Given the description of an element on the screen output the (x, y) to click on. 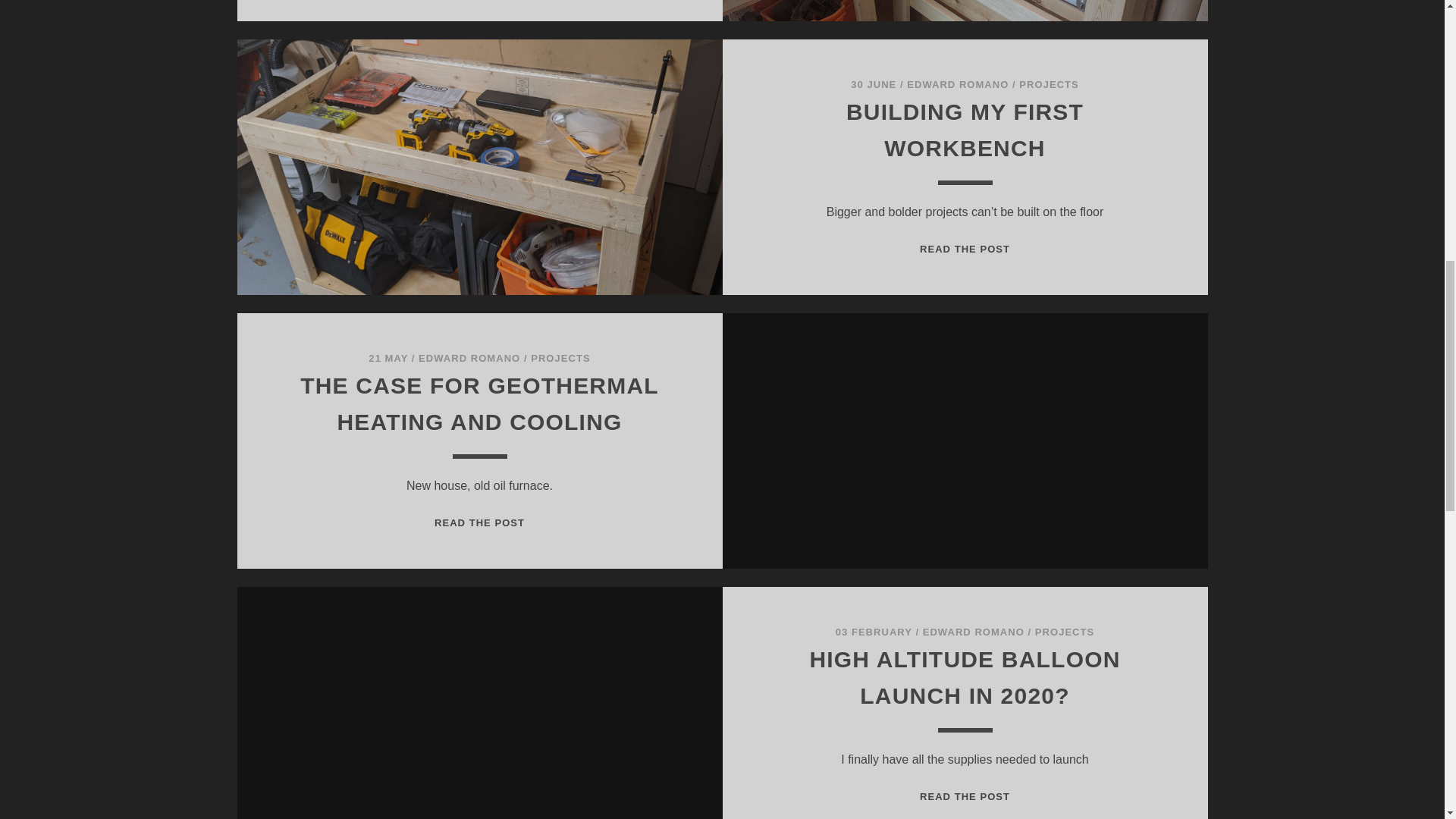
HIGH ALTITUDE BALLOON LAUNCH IN 2020? (964, 677)
EDWARD ROMANO (469, 357)
THE CASE FOR GEOTHERMAL HEATING AND COOLING (479, 403)
EDWARD ROMANO (958, 84)
PROJECTS (1064, 632)
Posts by Edward Romano (958, 84)
PROJECTS (560, 357)
Posts by Edward Romano (469, 357)
PROJECTS (965, 248)
